Given the description of an element on the screen output the (x, y) to click on. 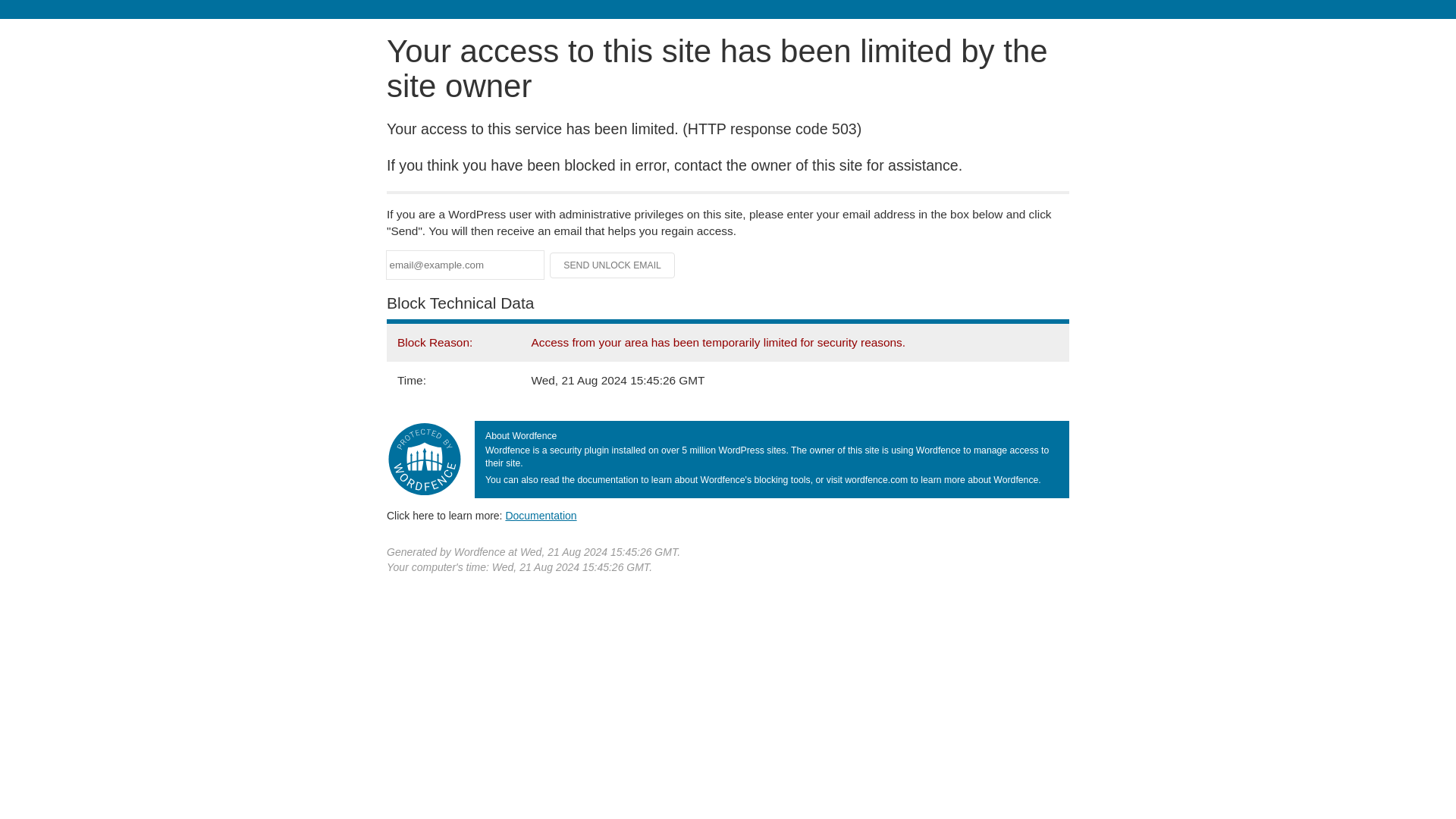
Send Unlock Email (612, 265)
Send Unlock Email (612, 265)
Documentation (540, 515)
